Given the description of an element on the screen output the (x, y) to click on. 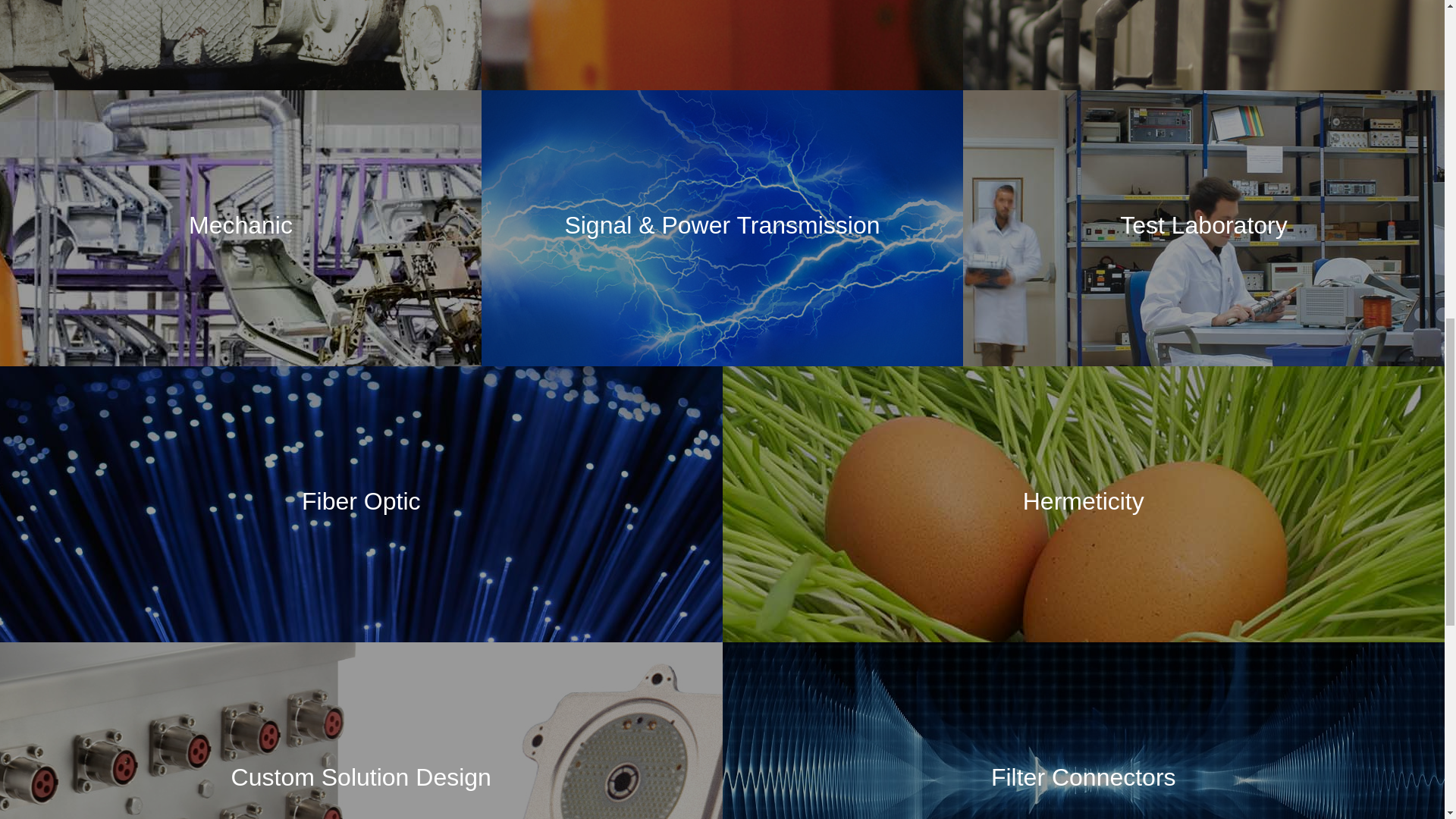
Harsh environments (536, 45)
